Given the description of an element on the screen output the (x, y) to click on. 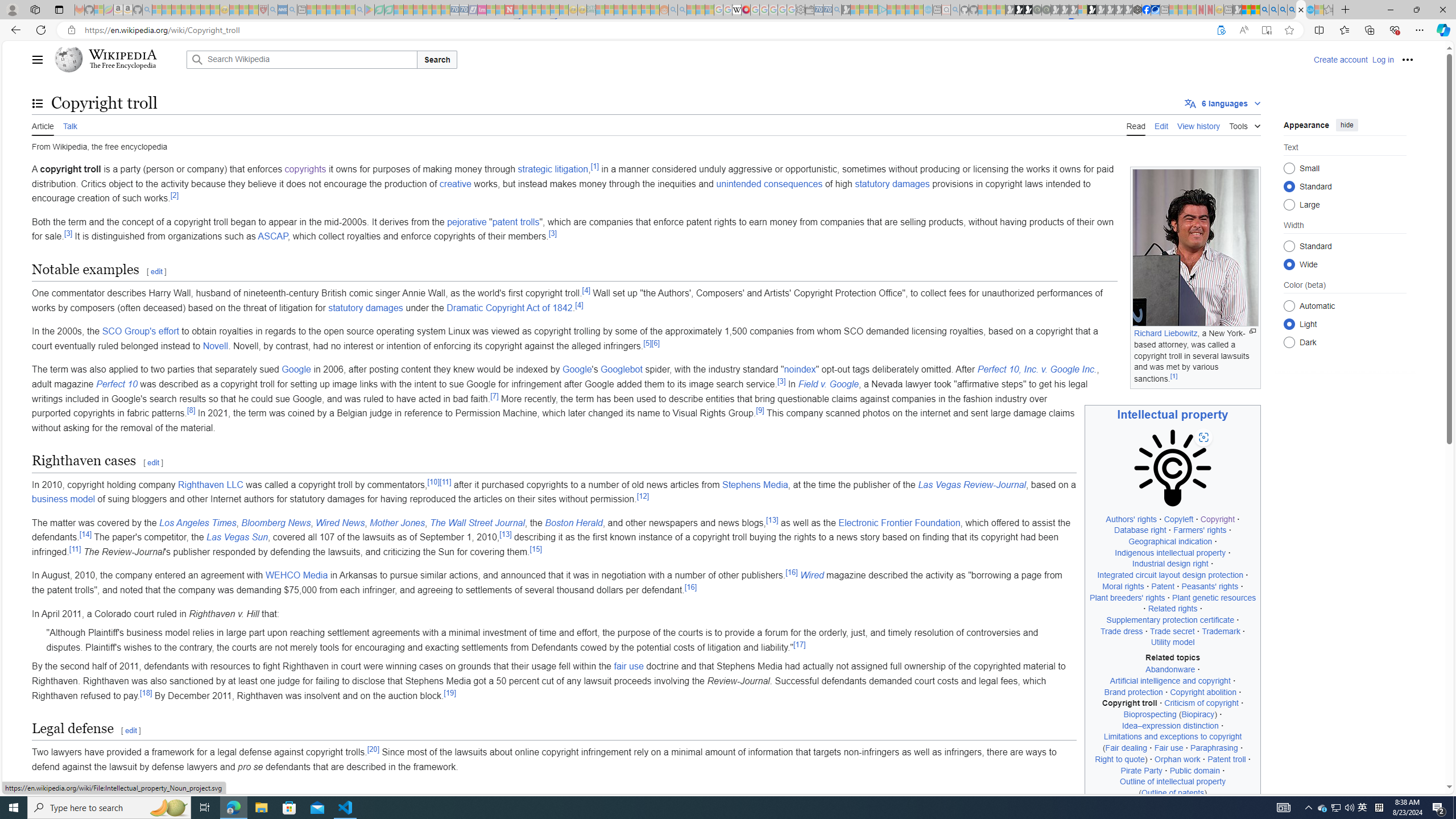
Public domain (1194, 770)
statutory damages (365, 307)
Google Chrome Internet Browser Download - Search Images (1291, 9)
Dark (1289, 341)
Boston Herald (573, 522)
[3] (781, 380)
Wired News (340, 522)
Future Focus Report 2024 - Sleeping (1045, 9)
Tools (1244, 124)
